Given the description of an element on the screen output the (x, y) to click on. 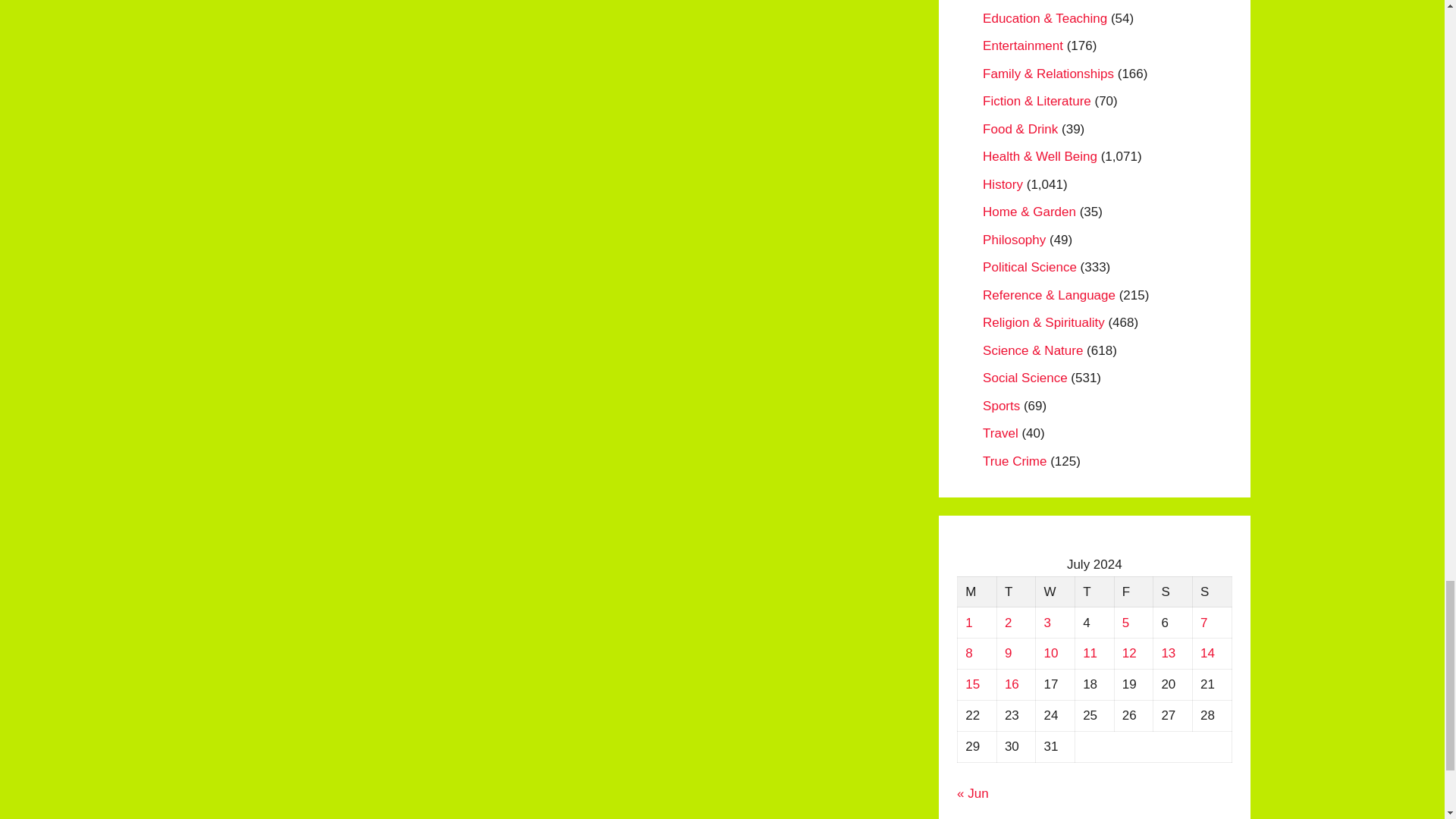
Monday (977, 591)
Wednesday (1055, 591)
Thursday (1093, 591)
Tuesday (1015, 591)
Saturday (1172, 591)
Sunday (1211, 591)
Friday (1133, 591)
